Given the description of an element on the screen output the (x, y) to click on. 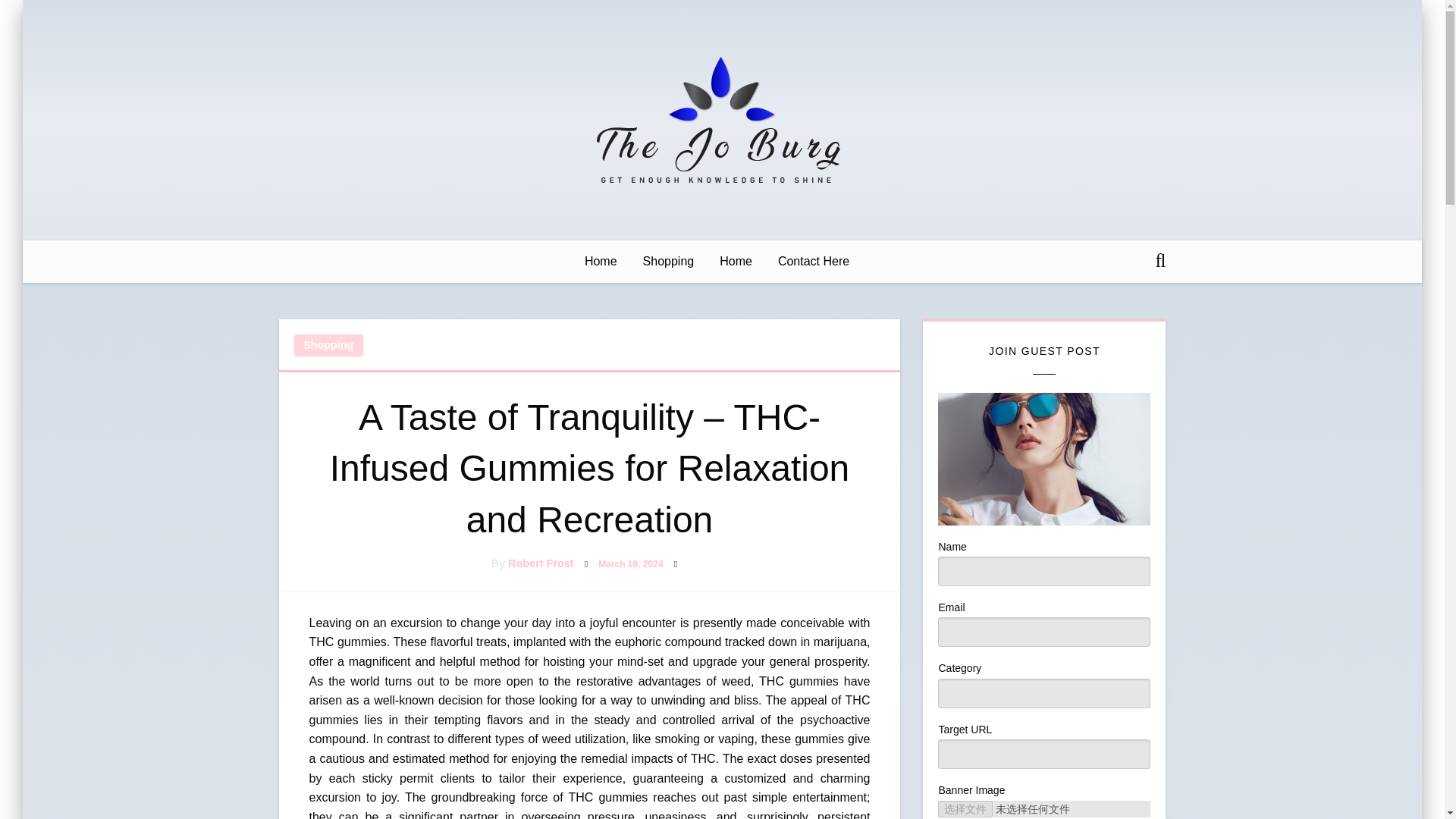
The Jo Burg (695, 210)
Robert Frost (540, 563)
March 19, 2024 (630, 563)
Shopping (668, 261)
Shopping (328, 344)
Contact Here (813, 261)
Home (735, 261)
Home (601, 261)
Robert Frost (540, 563)
